Given the description of an element on the screen output the (x, y) to click on. 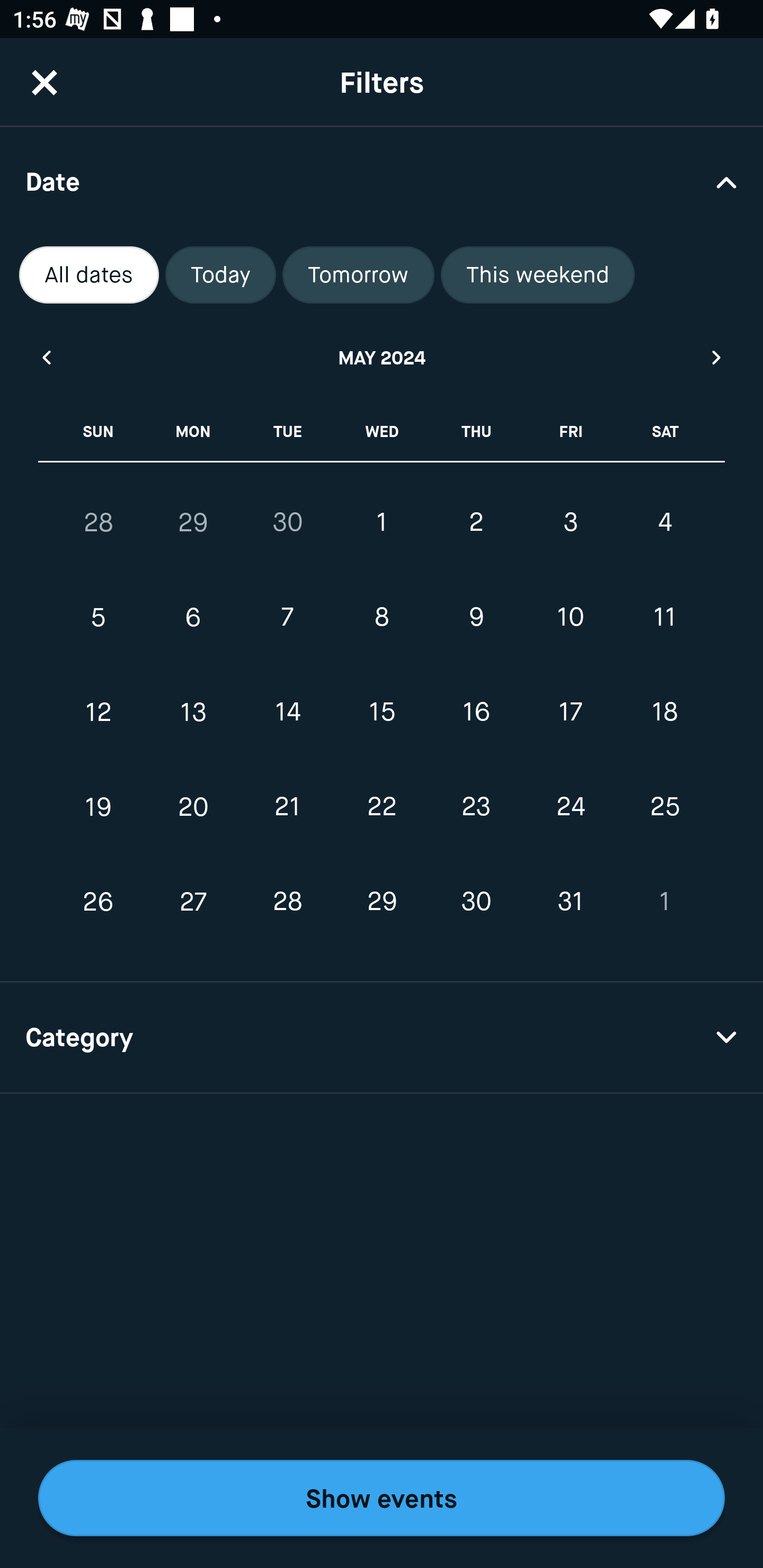
CloseButton (44, 82)
Date Drop Down Arrow (381, 181)
All dates (88, 274)
Today (220, 274)
Tomorrow (358, 274)
This weekend (537, 274)
Previous (45, 357)
Next (717, 357)
28 (98, 522)
29 (192, 522)
30 (287, 522)
1 (381, 522)
2 (475, 522)
3 (570, 522)
4 (664, 522)
5 (98, 617)
6 (192, 617)
7 (287, 617)
8 (381, 617)
9 (475, 617)
10 (570, 617)
11 (664, 617)
12 (98, 711)
13 (192, 711)
14 (287, 711)
15 (381, 711)
16 (475, 711)
17 (570, 711)
18 (664, 711)
19 (98, 806)
20 (192, 806)
21 (287, 806)
22 (381, 806)
23 (475, 806)
24 (570, 806)
25 (664, 806)
26 (98, 901)
27 (192, 901)
28 (287, 901)
29 (381, 901)
30 (475, 901)
31 (570, 901)
1 (664, 901)
Category Drop Down Arrow (381, 1038)
Show events (381, 1497)
